Given the description of an element on the screen output the (x, y) to click on. 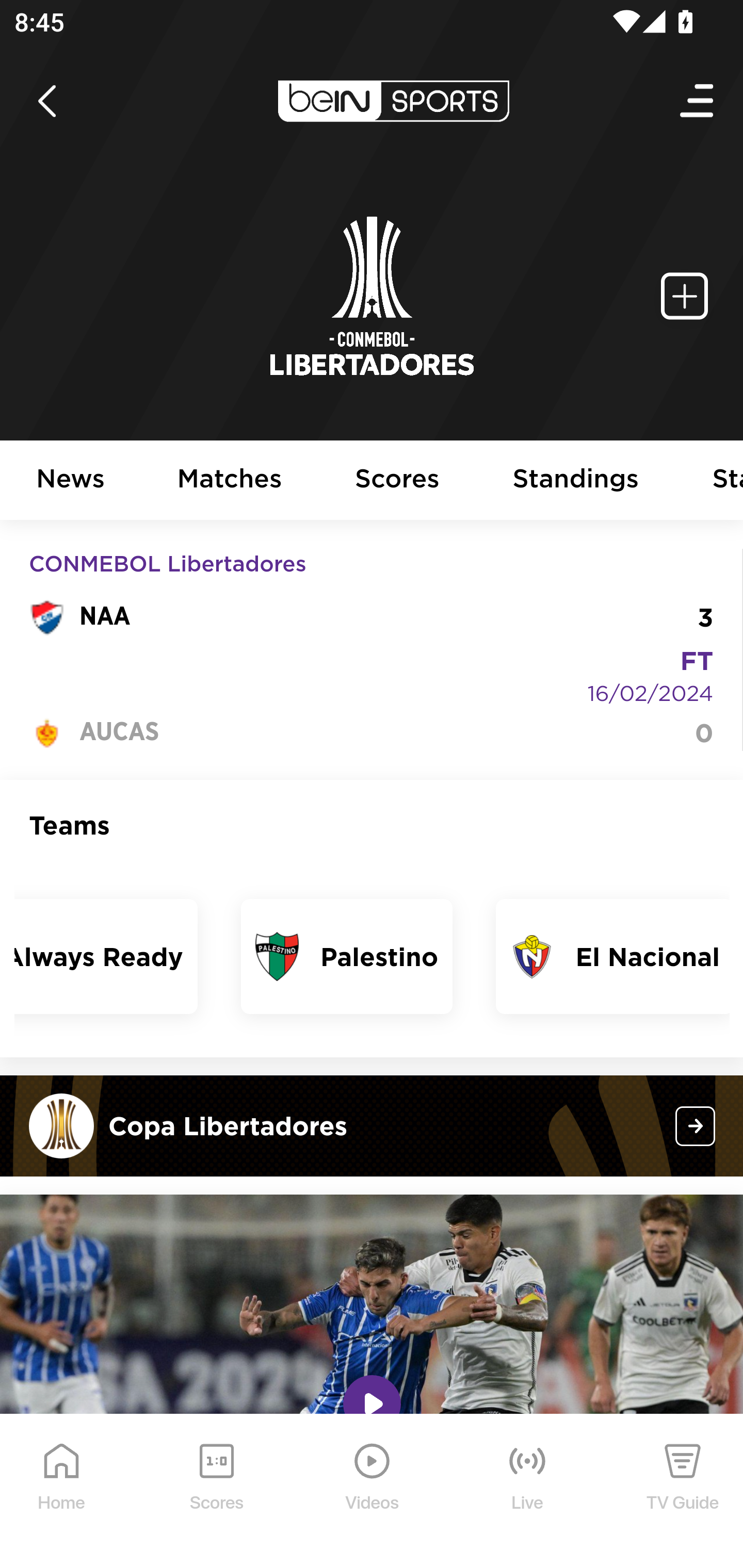
en-us?platform=mobile_android bein logo white (392, 101)
icon back (46, 101)
Open Menu Icon (697, 101)
News (70, 480)
Matches (229, 480)
Scores (397, 480)
Standings (575, 480)
Always Ready (106, 956)
Palestino Palestino Palestino (346, 956)
El Nacional El Nacional El Nacional (612, 956)
conmebol-libertadores?platform=mobile_android (695, 1125)
Home Home Icon Home (61, 1491)
Scores Scores Icon Scores (216, 1491)
Videos Videos Icon Videos (372, 1491)
TV Guide TV Guide Icon TV Guide (682, 1491)
